Given the description of an element on the screen output the (x, y) to click on. 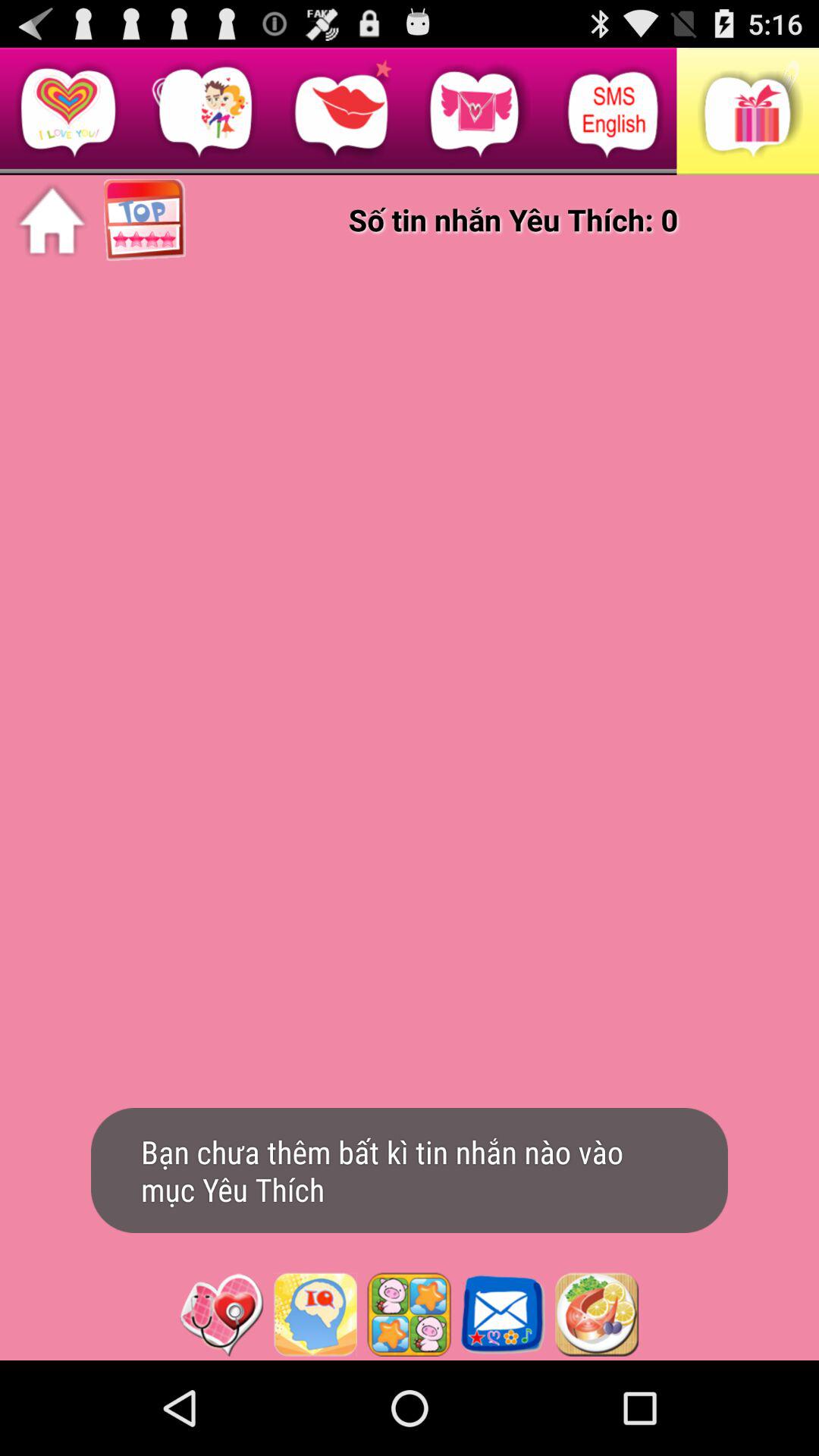
open new app (596, 1314)
